Given the description of an element on the screen output the (x, y) to click on. 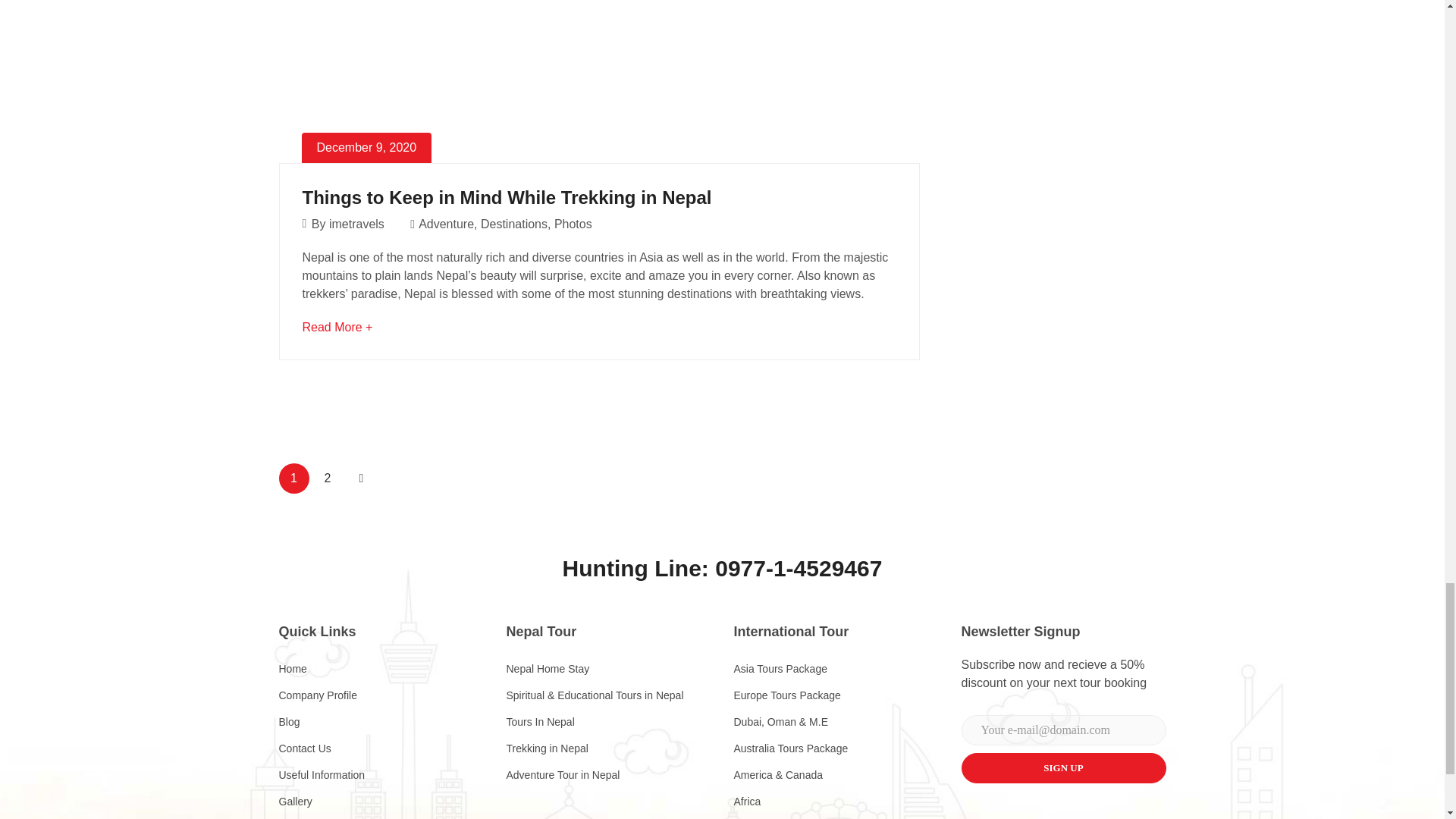
Posts by imetravels (356, 223)
